Given the description of an element on the screen output the (x, y) to click on. 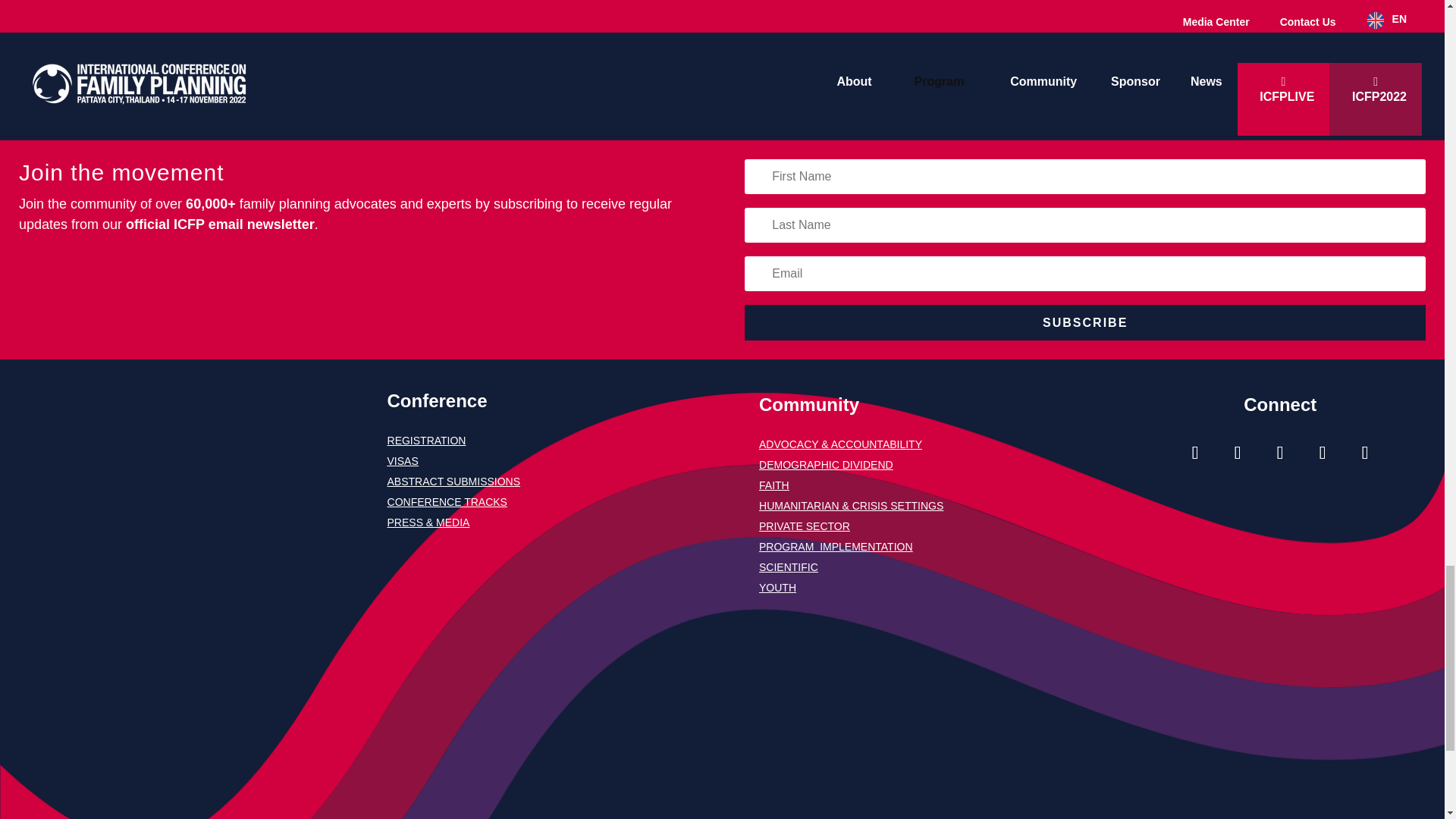
Follow on Instagram (1194, 452)
Follow on LinkedIn (1364, 452)
Follow on Youtube (1322, 452)
Follow on Facebook (1237, 452)
Follow on Twitter (1280, 452)
